Given the description of an element on the screen output the (x, y) to click on. 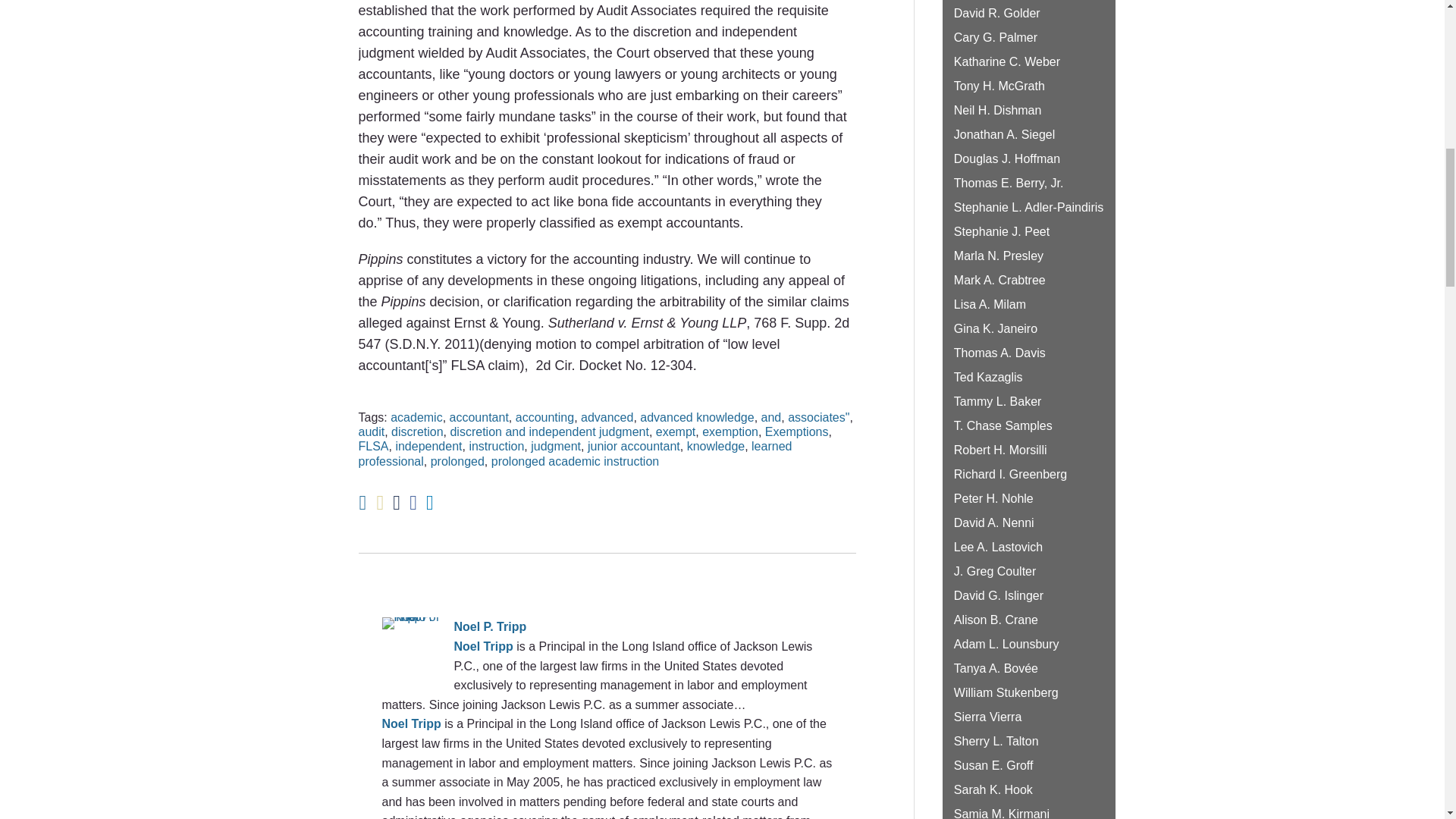
and (771, 417)
independent (427, 445)
discretion (416, 431)
exemption (729, 431)
discretion and independent judgment (548, 431)
junior accountant (633, 445)
knowledge (716, 445)
exempt (675, 431)
Exemptions (796, 431)
audit (371, 431)
prolonged academic instruction (575, 461)
accounting (544, 417)
prolonged (457, 461)
learned professional (575, 452)
advanced knowledge (697, 417)
